Given the description of an element on the screen output the (x, y) to click on. 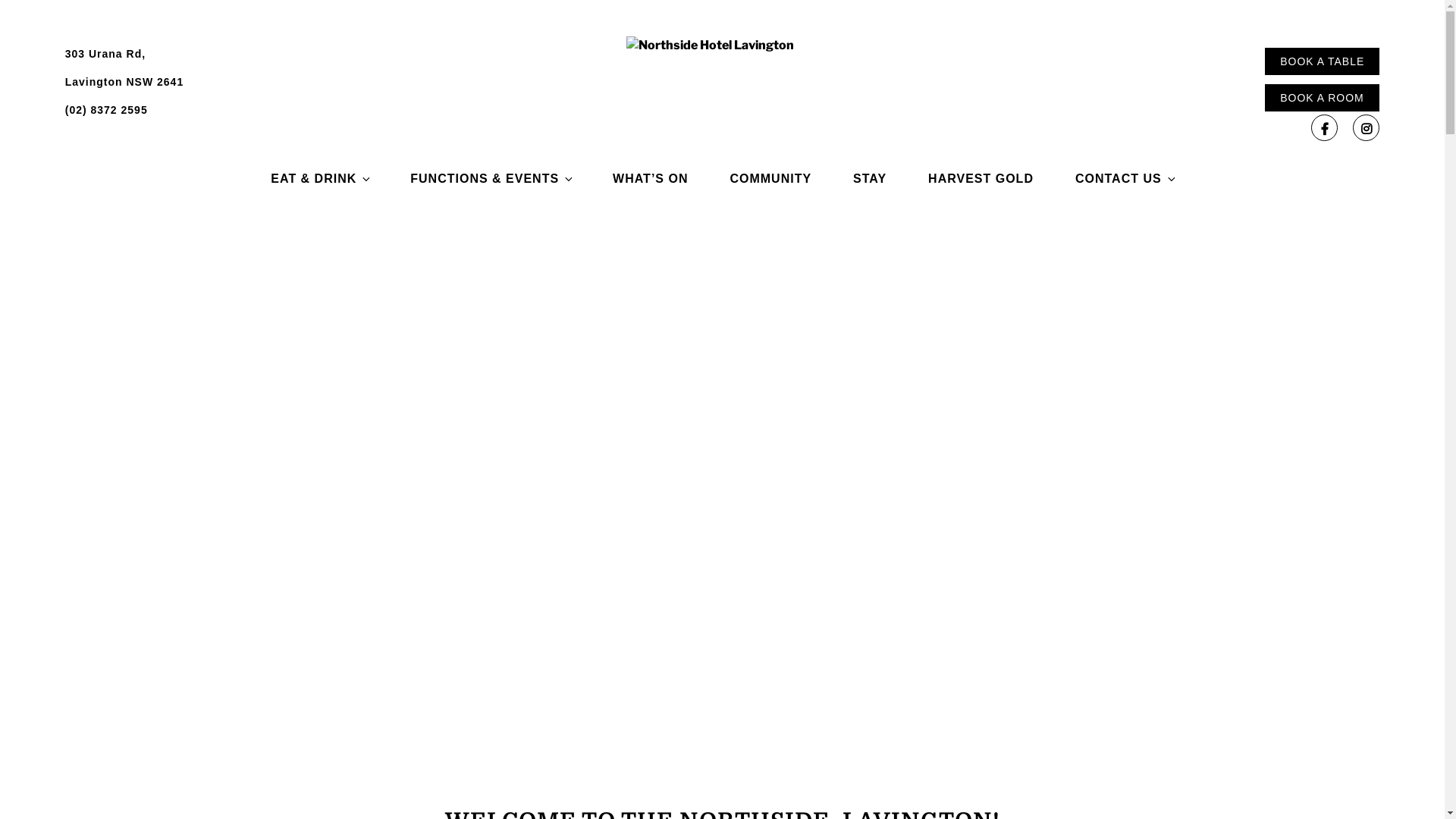
HARVEST GOLD Element type: text (980, 178)
BOOK A ROOM Element type: text (1321, 97)
BOOK A TABLE Element type: text (1321, 61)
CONTACT US Element type: text (1124, 178)
EAT & DRINK Element type: text (319, 178)
FUNCTIONS & EVENTS Element type: text (490, 178)
COMMUNITY Element type: text (770, 178)
(02) 8372 2595 Element type: text (106, 109)
STAY Element type: text (869, 178)
NORTHSIDE HOTEL LAVINGTON Element type: text (632, 192)
